Given the description of an element on the screen output the (x, y) to click on. 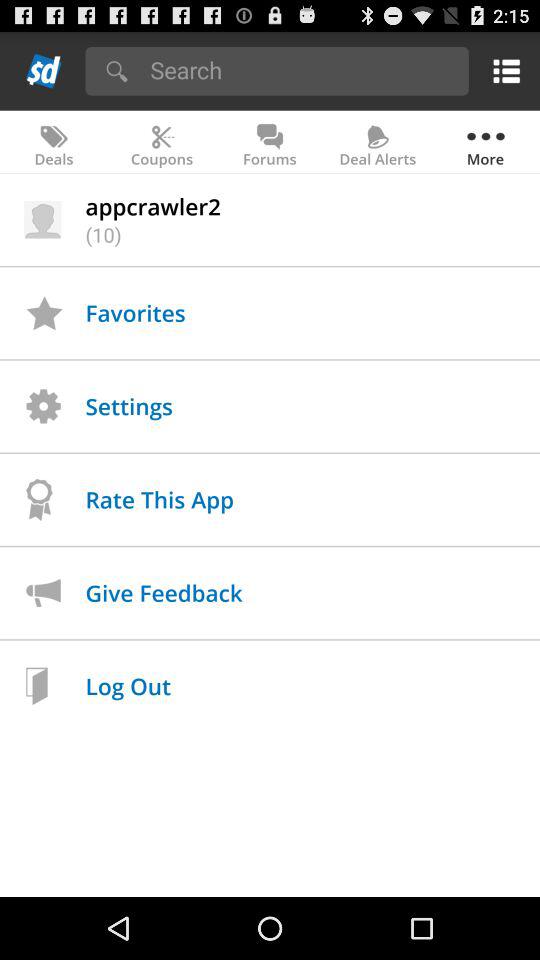
press item above more icon (502, 70)
